Given the description of an element on the screen output the (x, y) to click on. 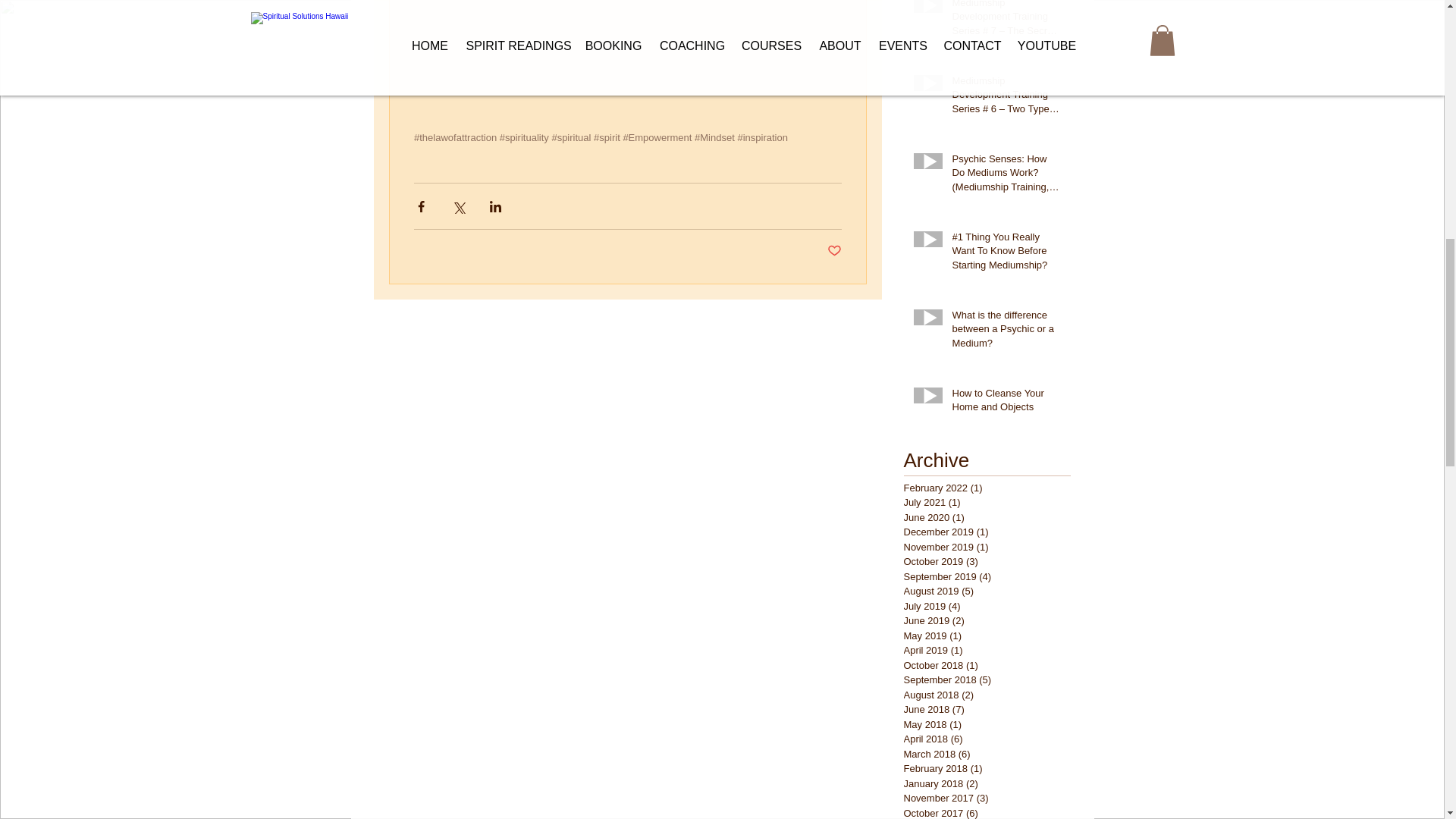
Post not marked as liked (834, 251)
